Given the description of an element on the screen output the (x, y) to click on. 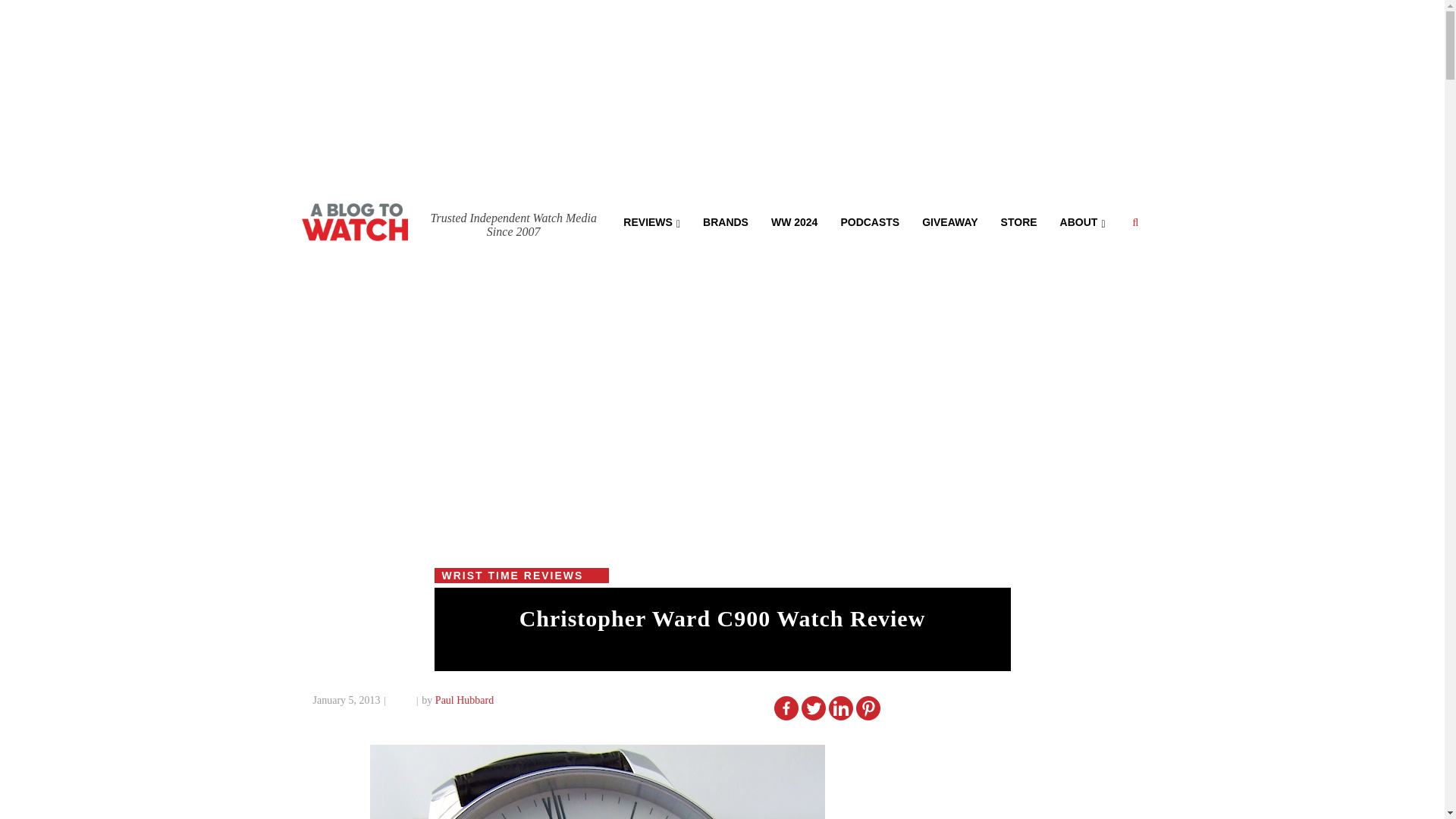
BRANDS (725, 221)
Twitter (812, 708)
STORE (1019, 221)
Guides to help you when buying watches (794, 221)
Linkedin (839, 708)
Pinterest (867, 708)
Wrist Time Watch Reviews (651, 221)
GIVEAWAY (949, 221)
Christopher Ward C900 Watch Review (722, 619)
